Given the description of an element on the screen output the (x, y) to click on. 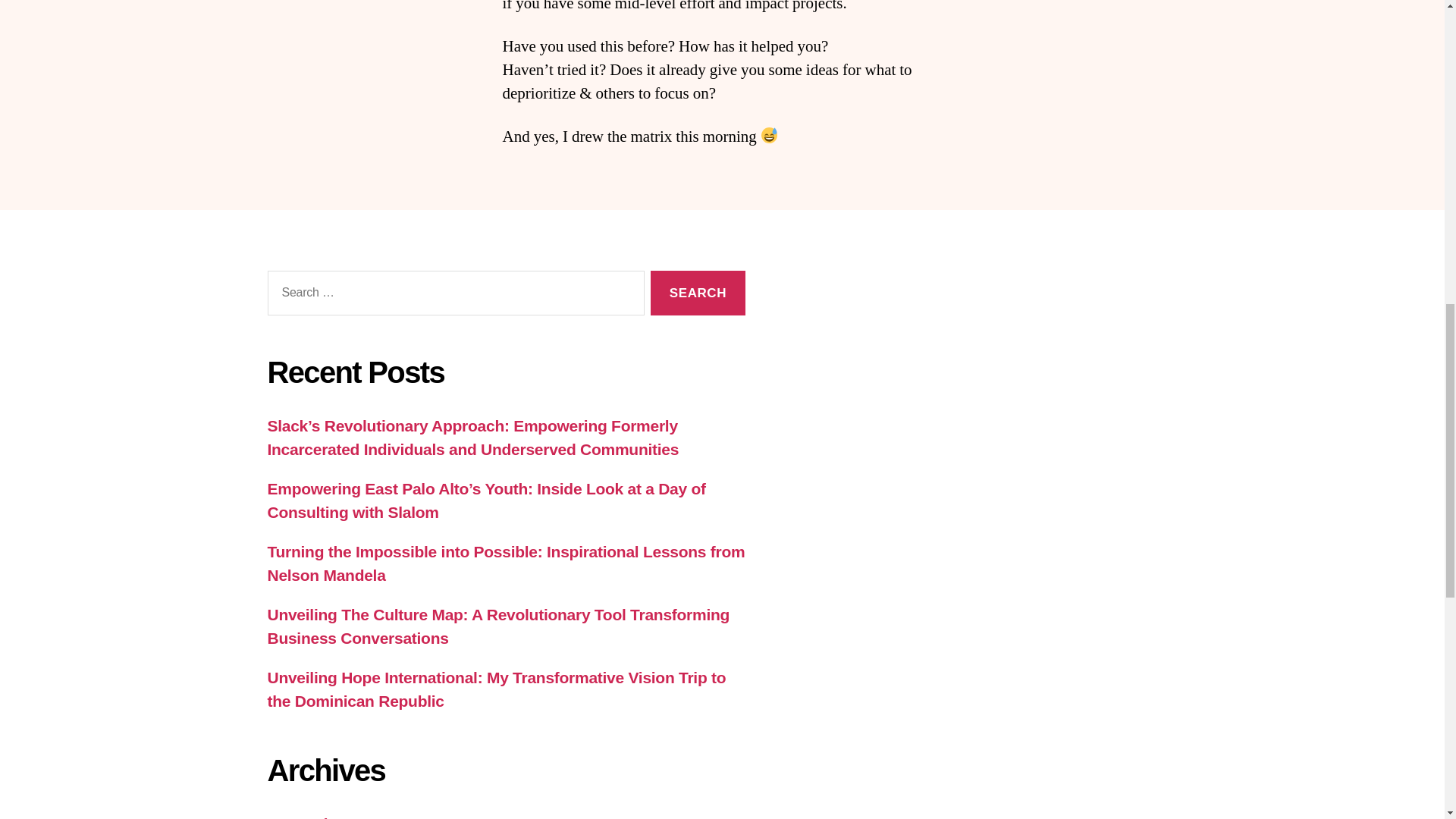
Search (697, 293)
Search (697, 293)
Search (697, 293)
